Given the description of an element on the screen output the (x, y) to click on. 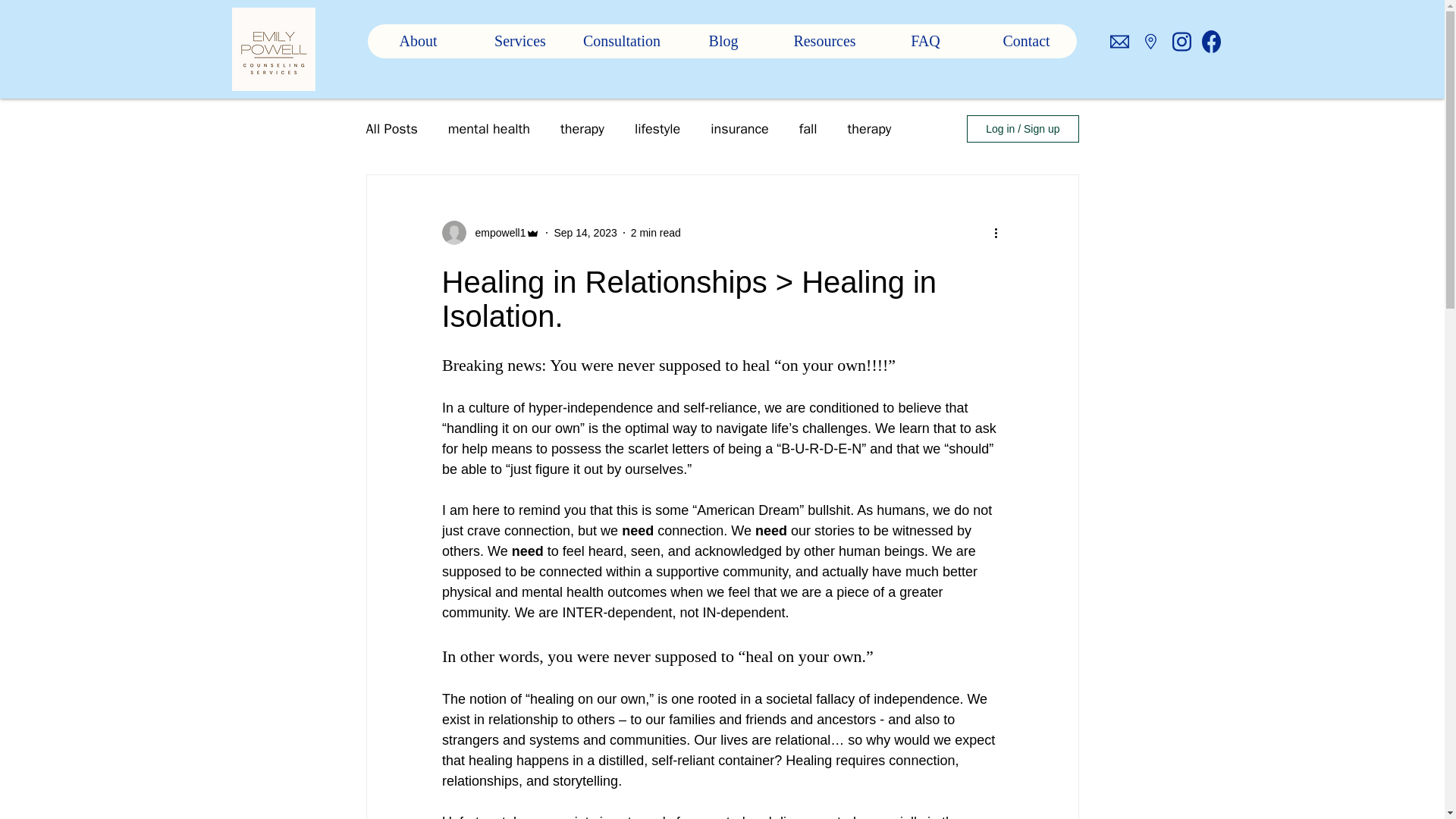
Resources (824, 41)
lifestyle (656, 128)
About (417, 41)
Sep 14, 2023 (584, 232)
fall (807, 128)
FAQ (925, 41)
Services (519, 41)
Contact (1025, 41)
Blog (722, 41)
therapy (582, 128)
